Given the description of an element on the screen output the (x, y) to click on. 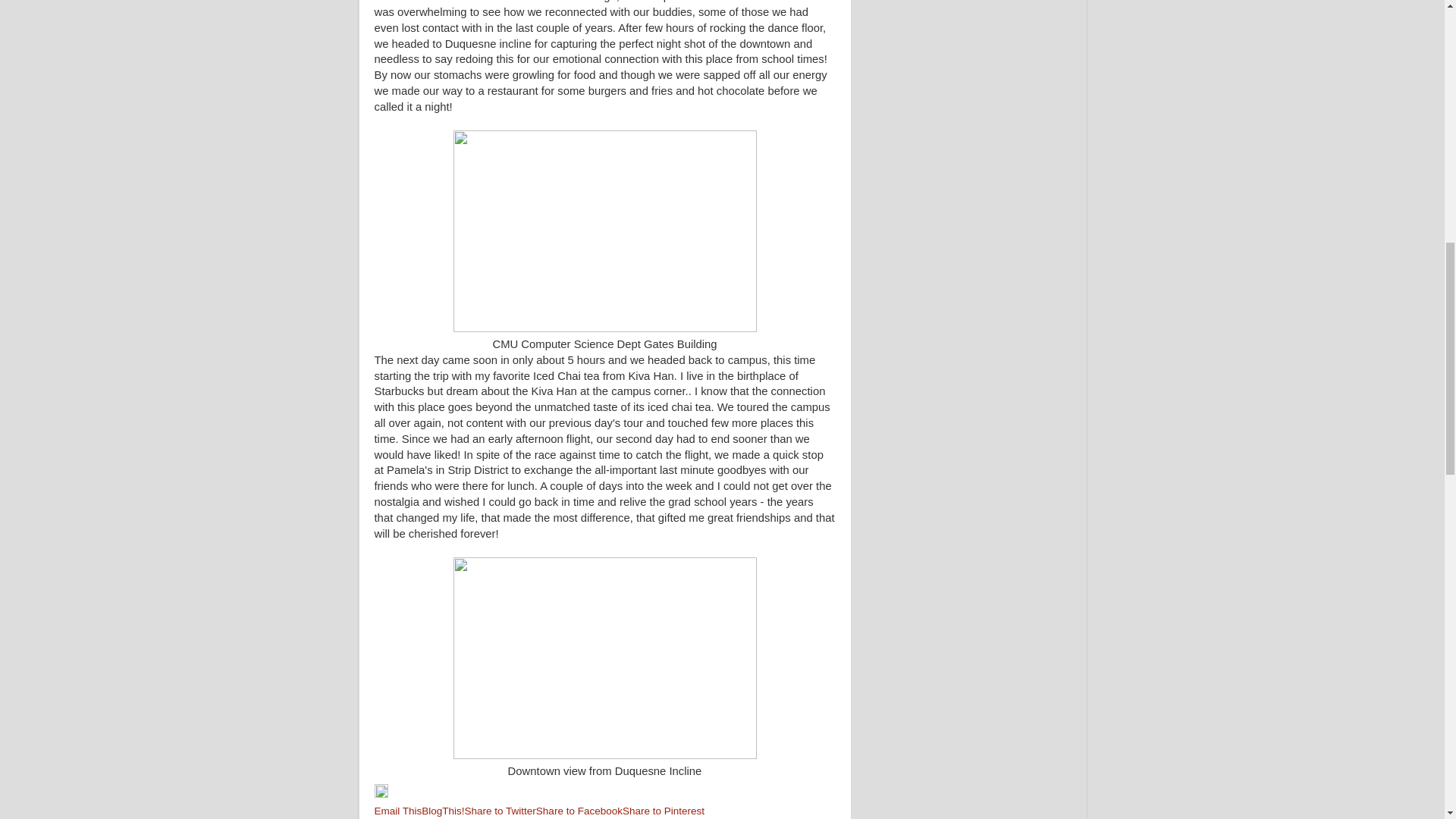
Email This (398, 810)
Share to Pinterest (663, 810)
Share to Facebook (579, 810)
Email This (398, 810)
Edit Post (381, 794)
BlogThis! (443, 810)
Share to Facebook (579, 810)
BlogThis! (443, 810)
Share to Twitter (499, 810)
Share to Twitter (499, 810)
Share to Pinterest (663, 810)
